Given the description of an element on the screen output the (x, y) to click on. 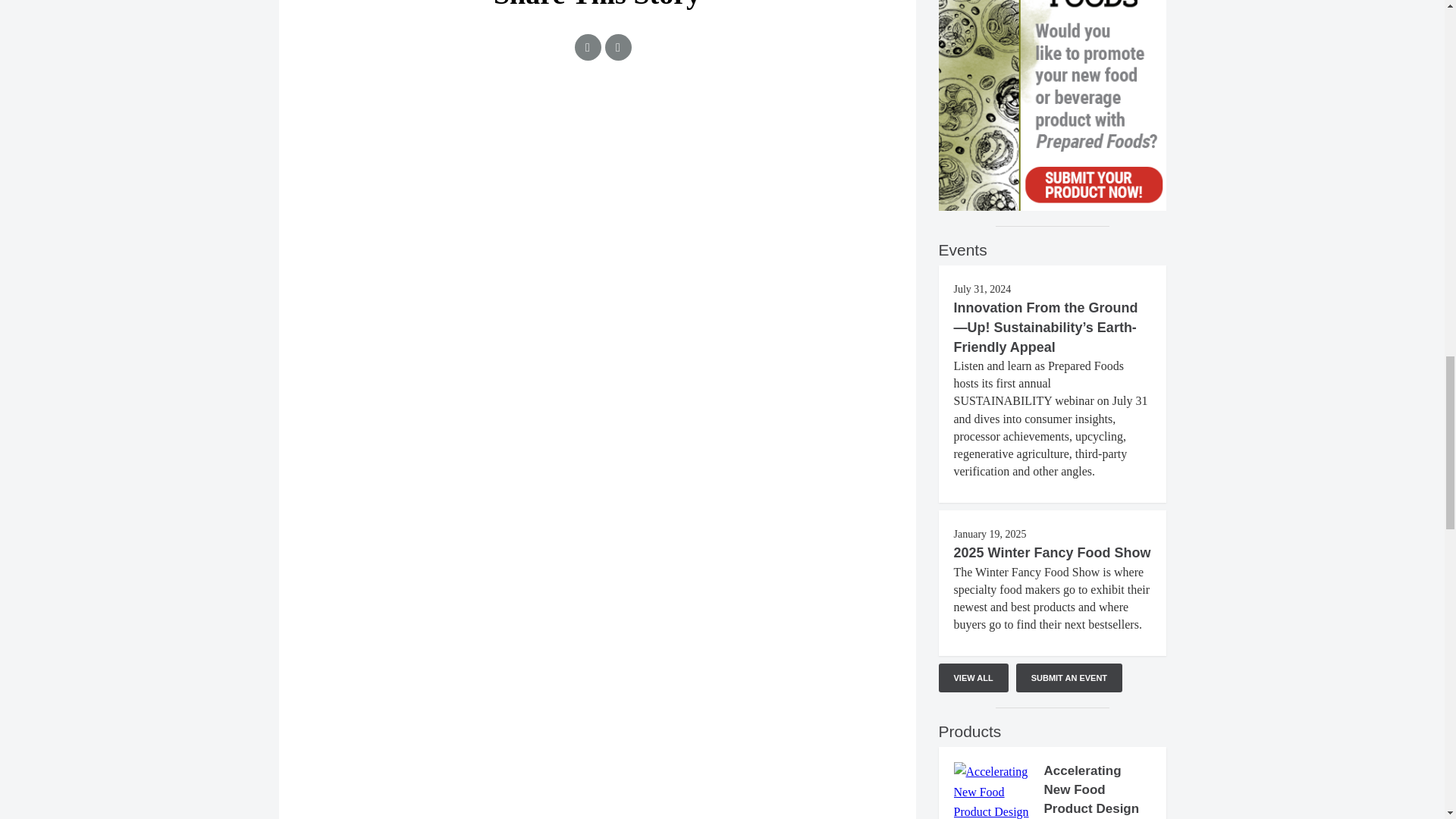
2025 Winter Fancy Food Show (1052, 552)
